Given the description of an element on the screen output the (x, y) to click on. 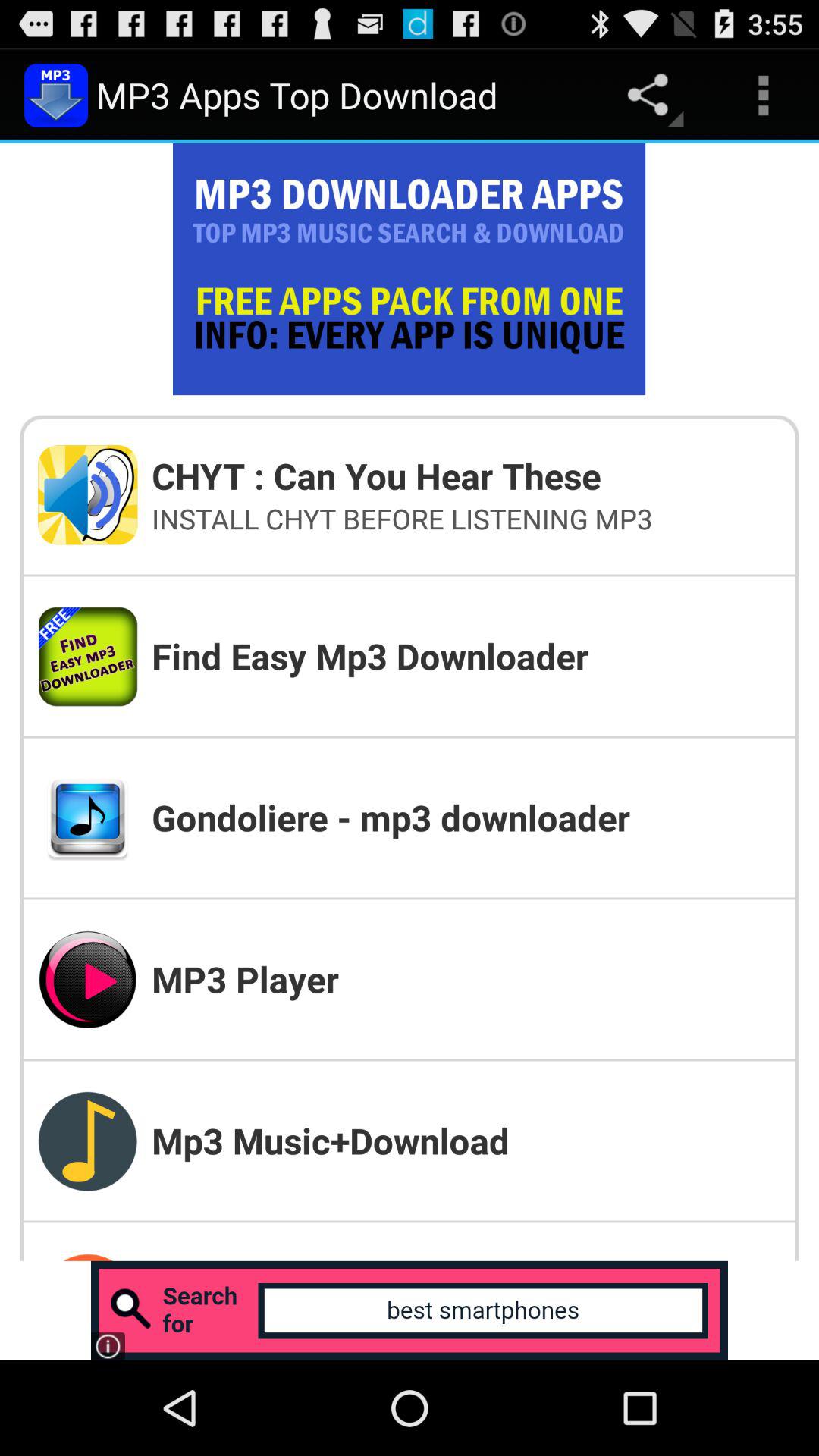
flip until the find easy mp3 item (465, 655)
